Given the description of an element on the screen output the (x, y) to click on. 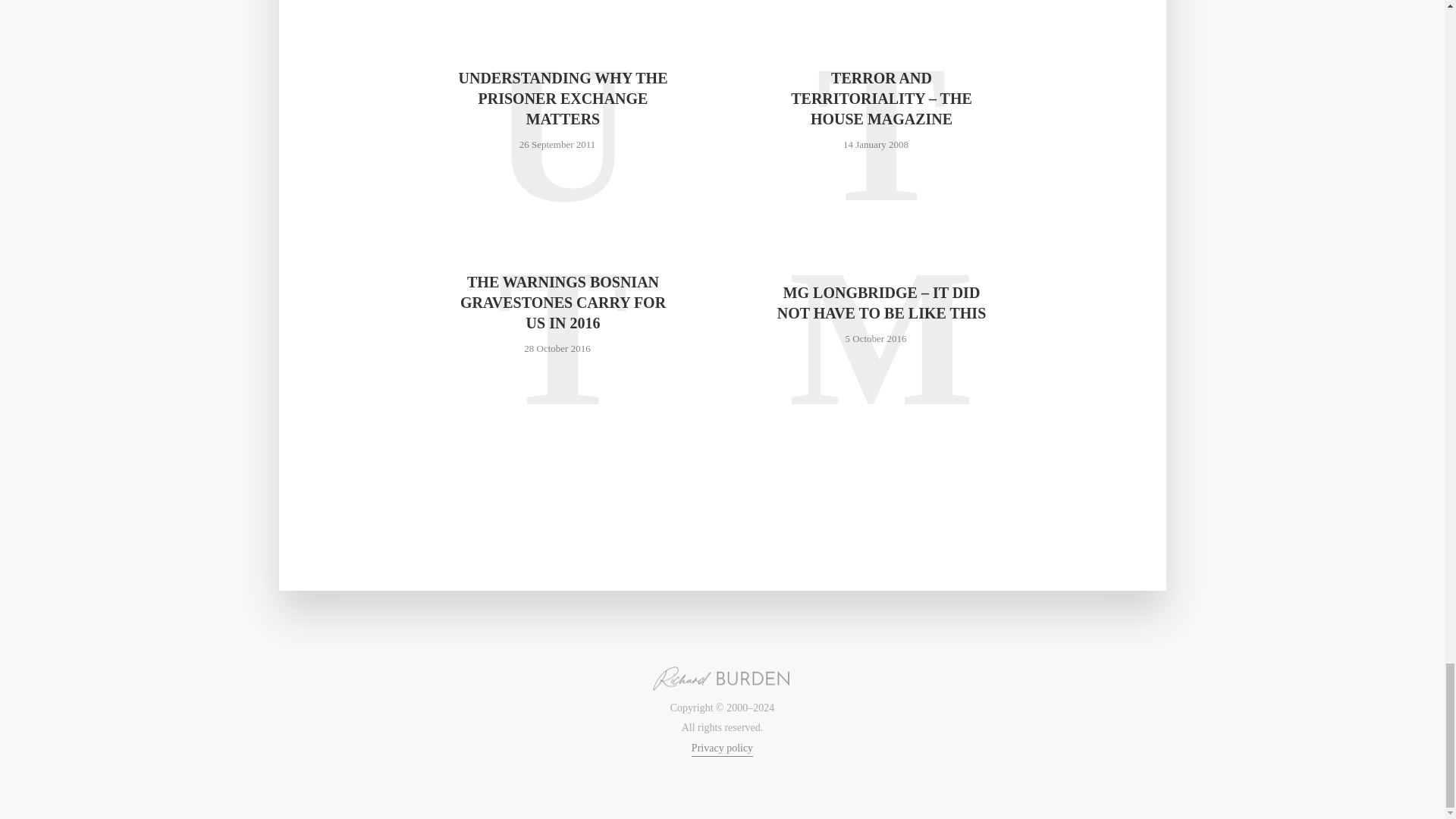
Privacy policy (721, 749)
THE WARNINGS BOSNIAN GRAVESTONES CARRY FOR US IN 2016 (562, 302)
UNDERSTANDING WHY THE PRISONER EXCHANGE MATTERS (562, 98)
